Given the description of an element on the screen output the (x, y) to click on. 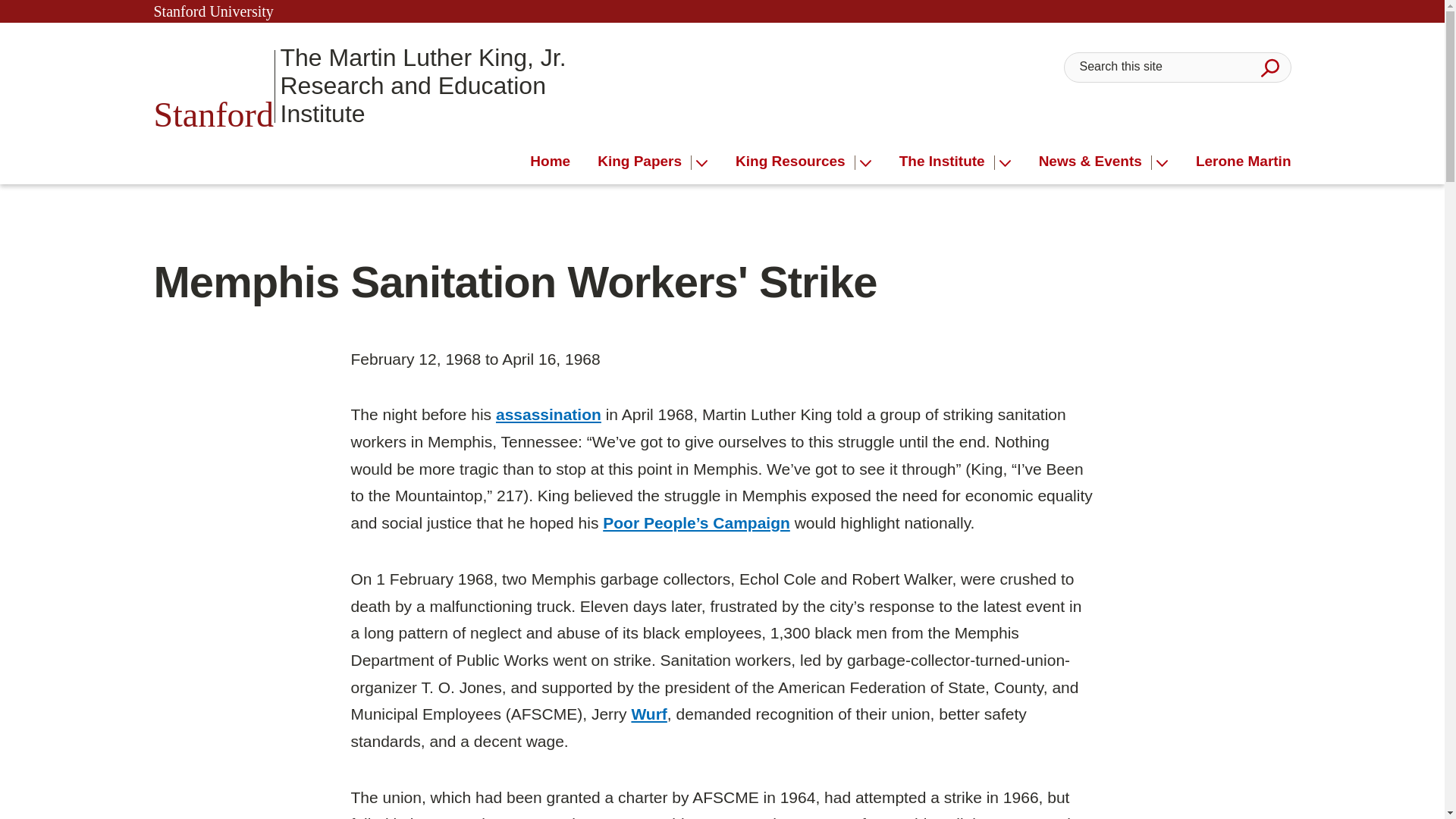
Home (549, 161)
Submit Search (1269, 67)
Poor People's Campaign (696, 522)
King Papers (643, 161)
Wurf, Jerome (648, 713)
50th Anniversary Commemoration of King's Assassination (548, 414)
King Resources (795, 161)
